Given the description of an element on the screen output the (x, y) to click on. 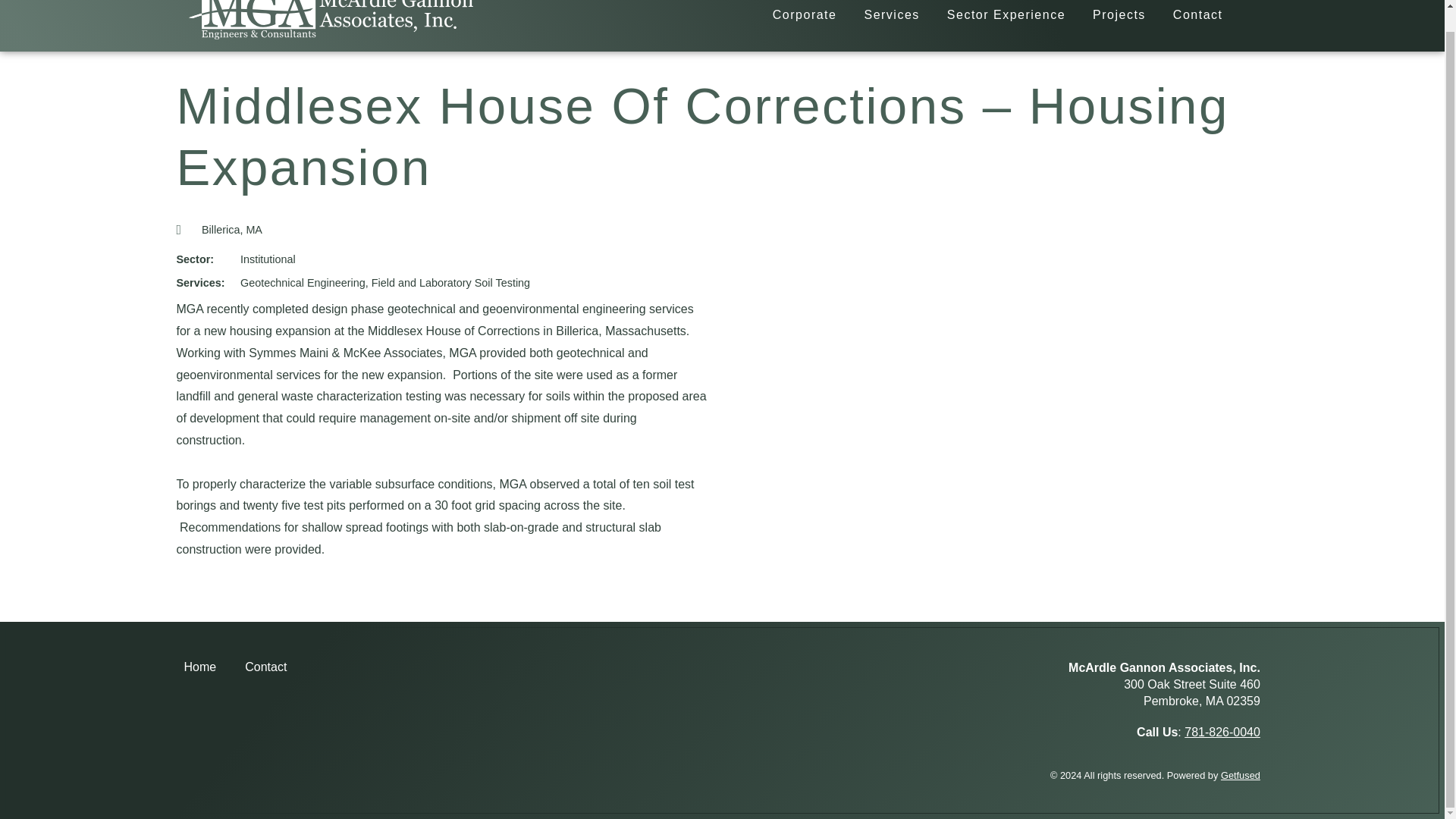
Projects (1118, 14)
Contact (265, 666)
Services (891, 14)
Home (199, 666)
Corporate (803, 14)
Sector Experience (1005, 14)
781-826-0040 (1222, 731)
Getfused (1240, 775)
Contact (1197, 14)
